Given the description of an element on the screen output the (x, y) to click on. 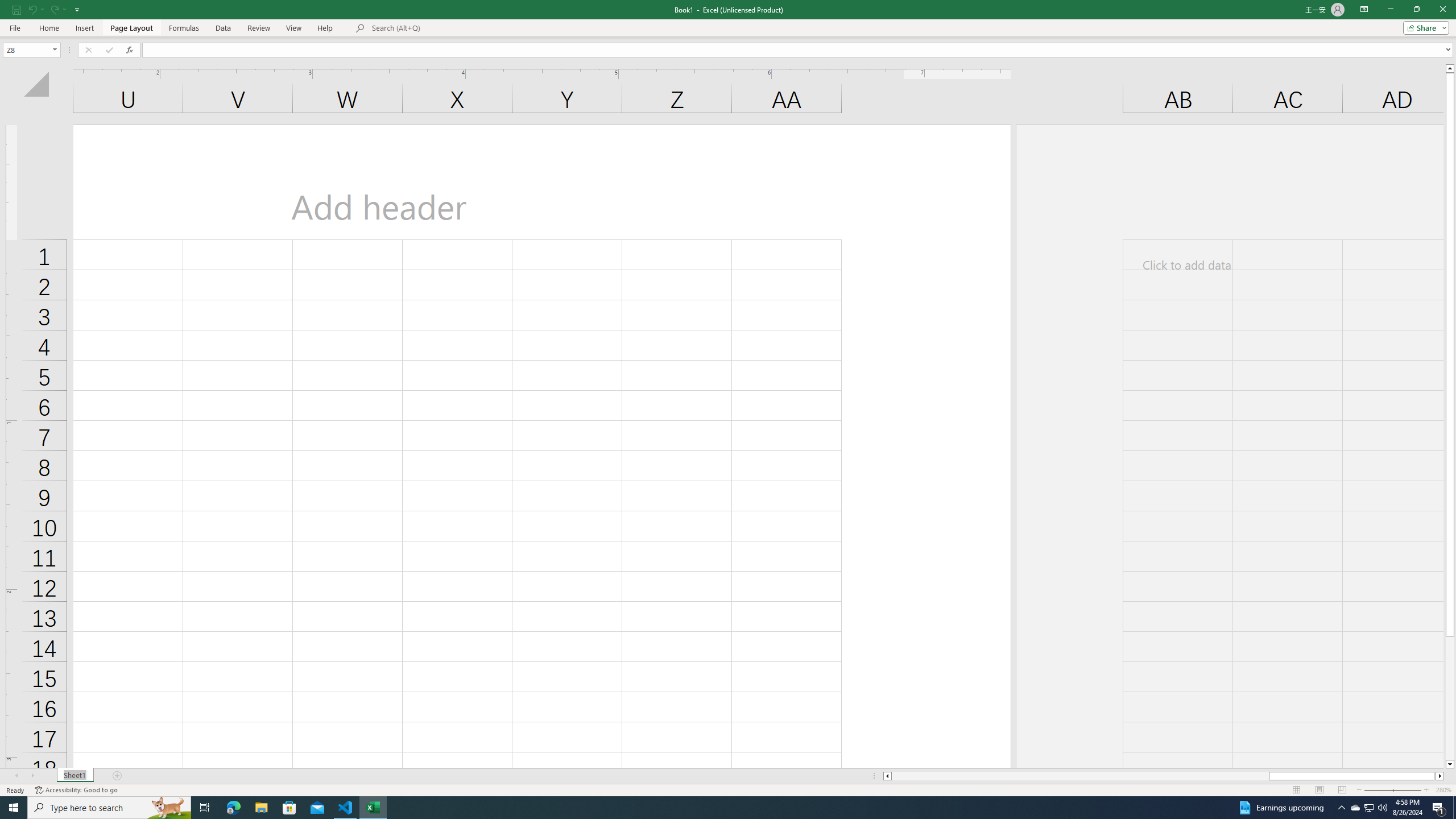
Sheet Tab (74, 775)
